Given the description of an element on the screen output the (x, y) to click on. 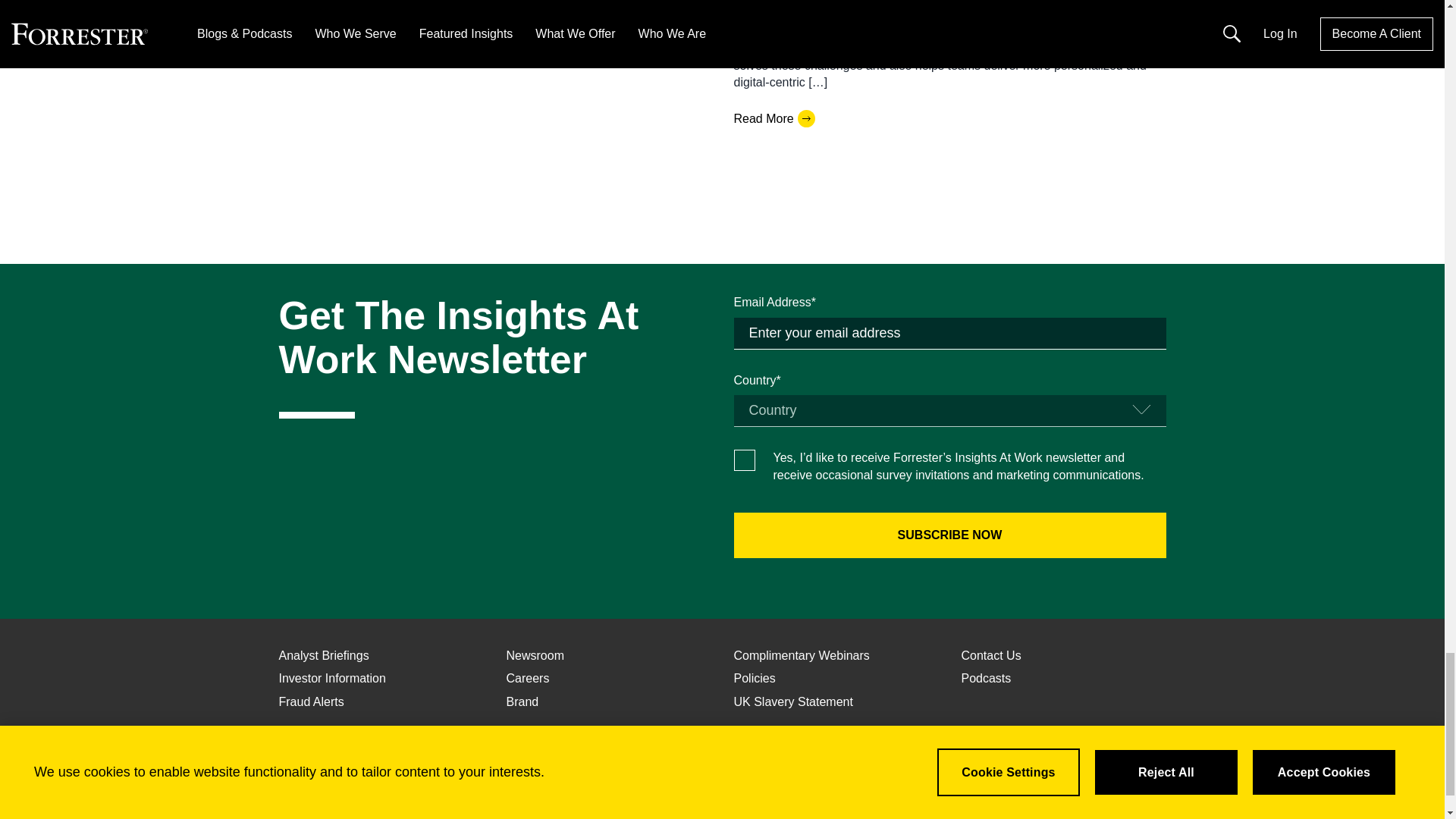
Subscribe Now (949, 534)
